Given the description of an element on the screen output the (x, y) to click on. 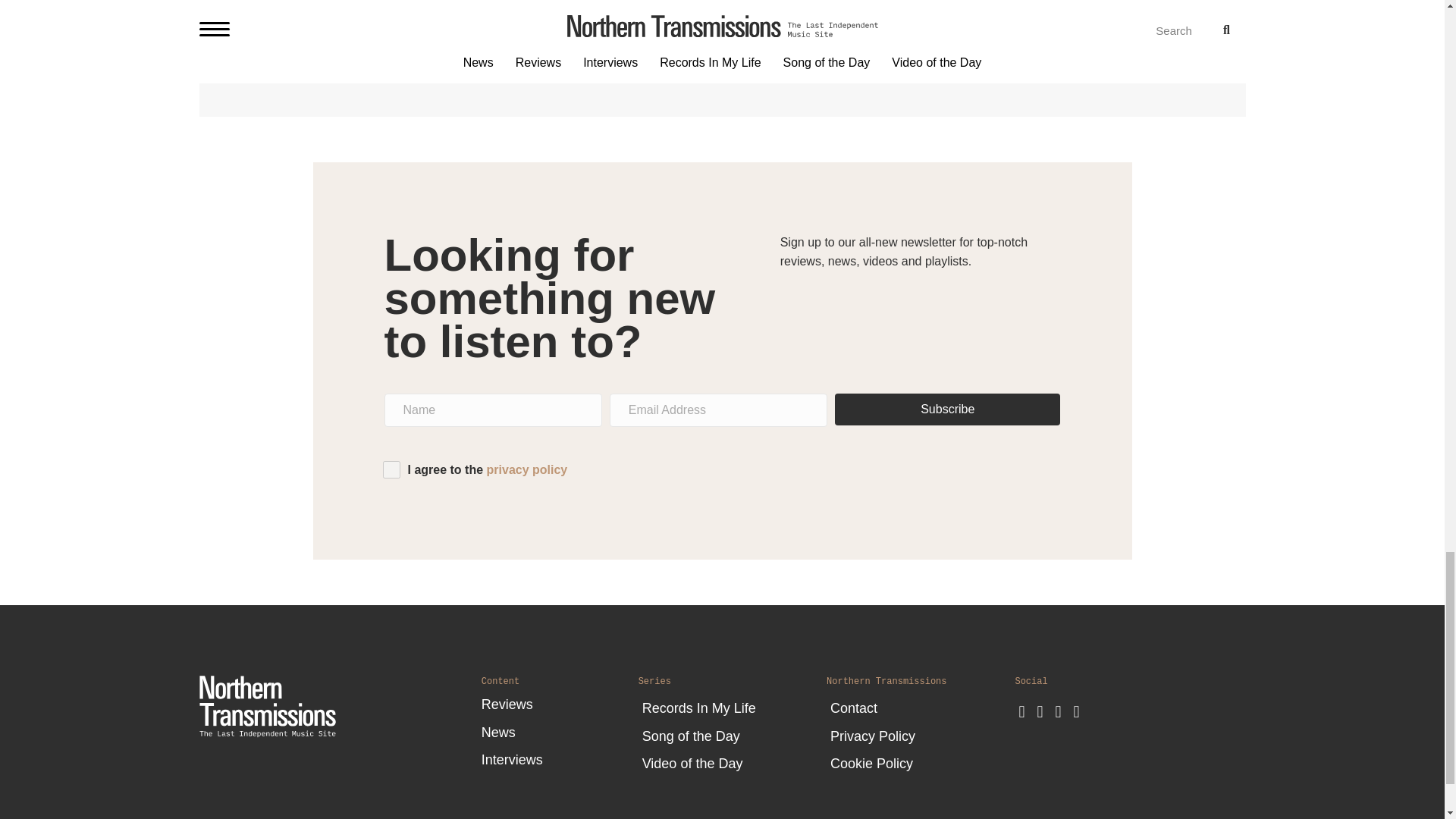
News (560, 729)
privacy policy (526, 469)
Subscribe (946, 409)
Interviews (560, 757)
Reviews (560, 701)
1 (389, 469)
